Given the description of an element on the screen output the (x, y) to click on. 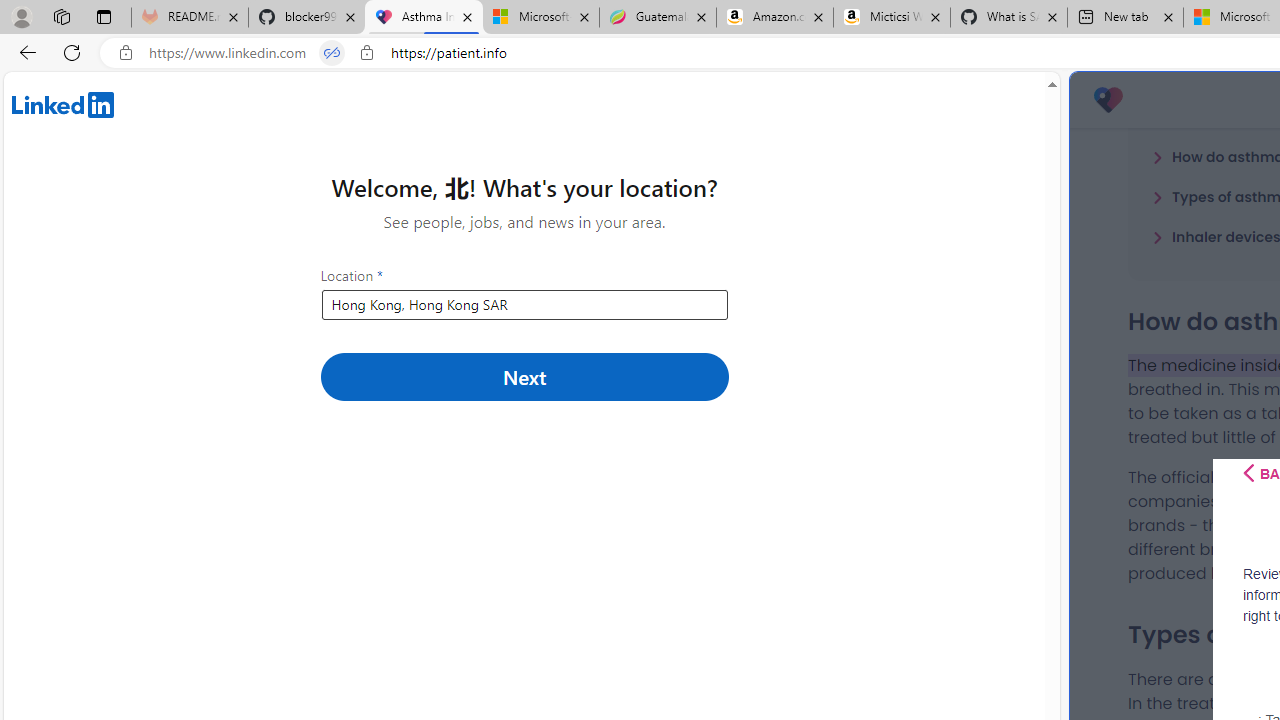
Tabs in split screen (331, 53)
Asthma Inhalers: Names and Types (424, 17)
